Given the description of an element on the screen output the (x, y) to click on. 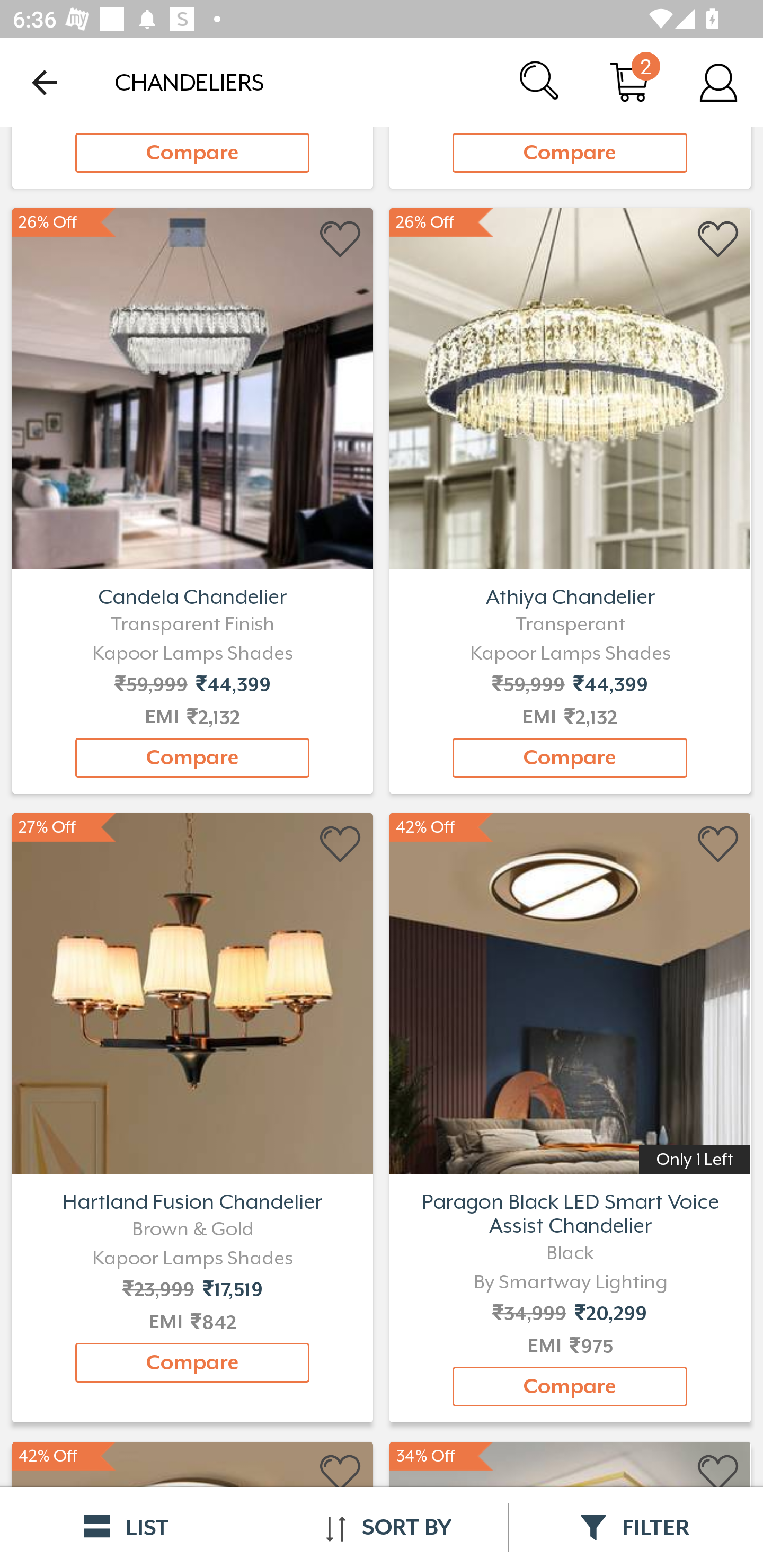
Navigate up (44, 82)
Search (540, 81)
Cart (629, 81)
Account Details (718, 81)
Compare (192, 152)
Compare (569, 152)
 (341, 239)
 (718, 239)
Compare (192, 757)
Compare (569, 757)
 (341, 844)
 (718, 844)
Compare (192, 1362)
Compare (569, 1386)
 (341, 1473)
 (718, 1473)
 LIST (127, 1527)
SORT BY (381, 1527)
 FILTER (635, 1527)
